Given the description of an element on the screen output the (x, y) to click on. 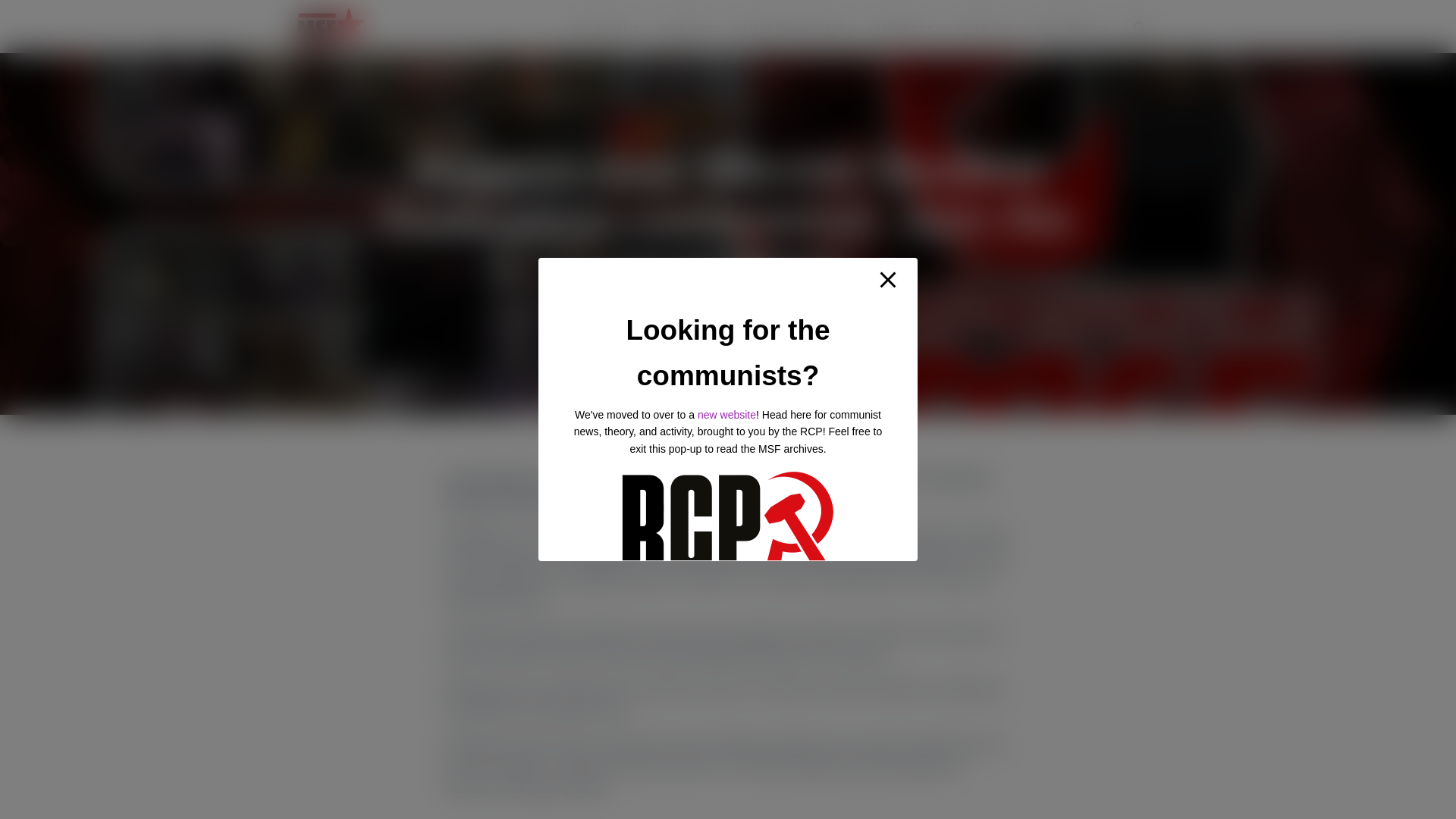
CONTACT US (982, 26)
Marxist Student Federation (330, 26)
Who we are (604, 26)
REVOLUTION MAGAZINE (791, 26)
ARTICLES (687, 26)
WHO WE ARE (604, 26)
Articles (687, 26)
CAMPAIGNS (900, 26)
SOCIAL MEDIA (1070, 26)
